Given the description of an element on the screen output the (x, y) to click on. 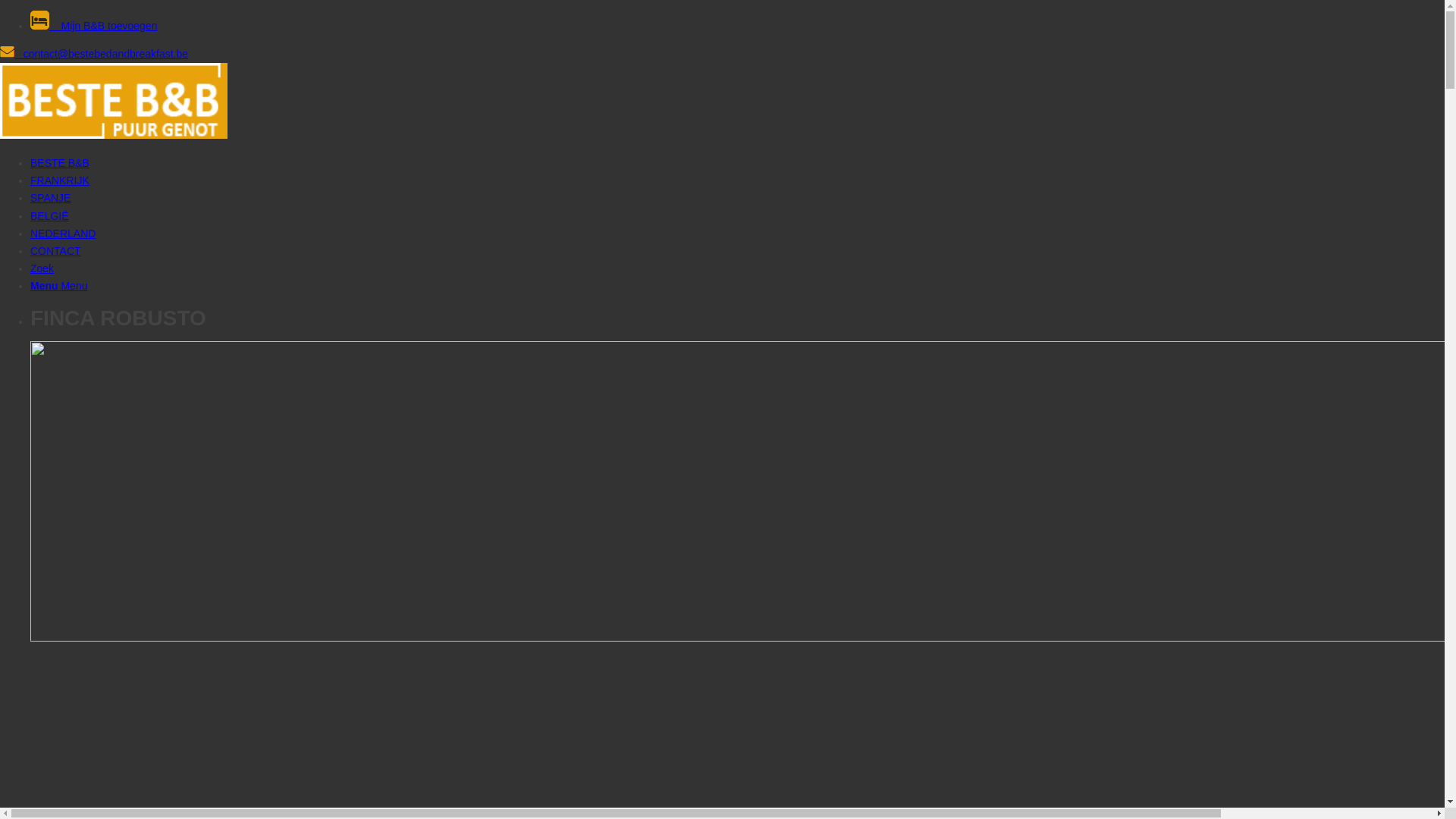
BESTE B&B Element type: text (59, 162)
   Mijn B&B toevoegen Element type: text (737, 22)
SPANJE Element type: text (50, 197)
   contact@bestebedandbreakfast.be Element type: text (94, 53)
Menu Menu Element type: text (58, 285)
Zoek Element type: text (41, 268)
FRANKRIJK Element type: text (59, 180)
CONTACT Element type: text (55, 250)
NEDERLAND Element type: text (62, 233)
